Given the description of an element on the screen output the (x, y) to click on. 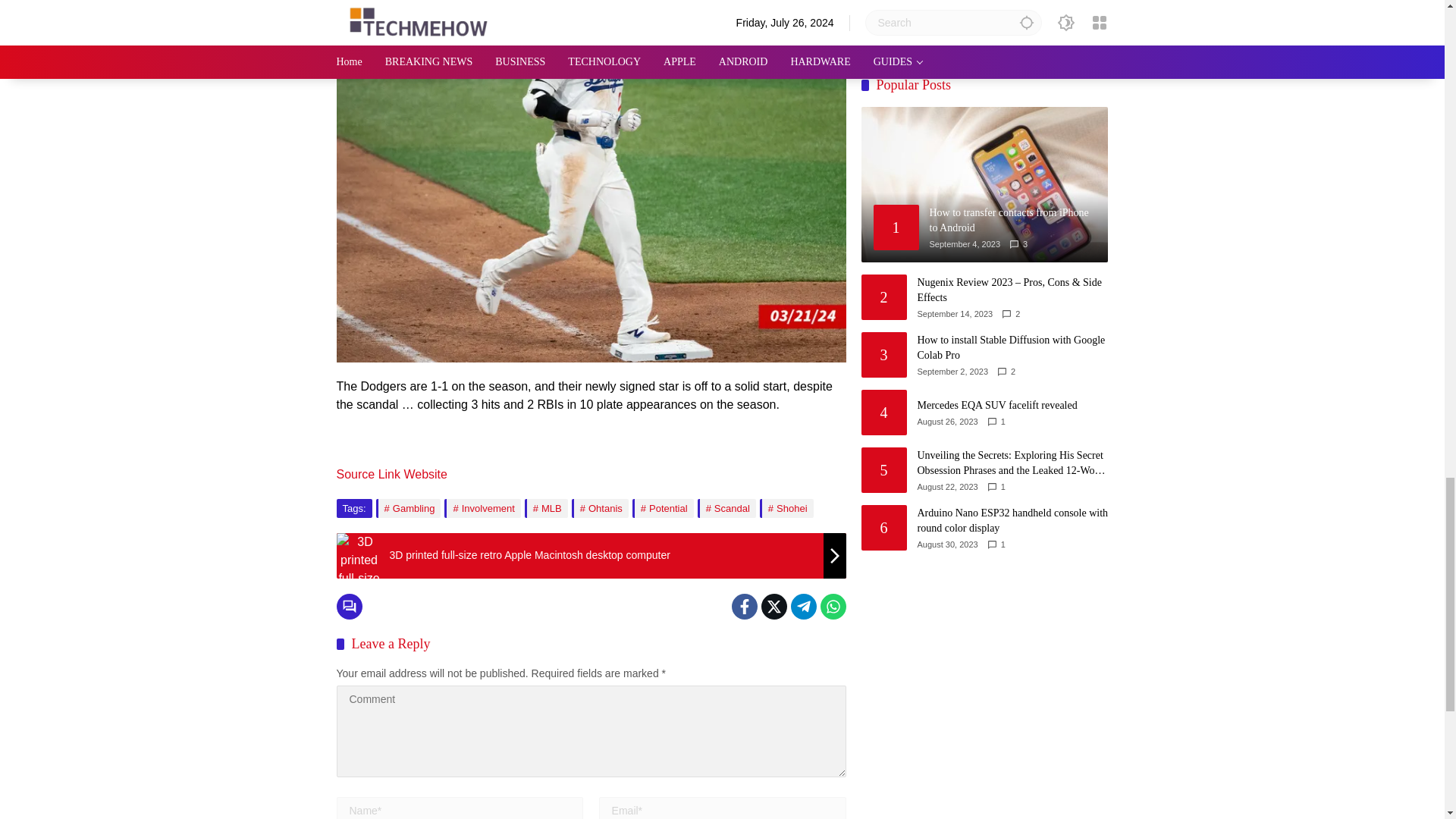
Facebook (743, 606)
3D printed full-size retro Apple Macintosh desktop computer (590, 555)
3D printed full-size retro Apple Macintosh desktop computer (358, 623)
